Given the description of an element on the screen output the (x, y) to click on. 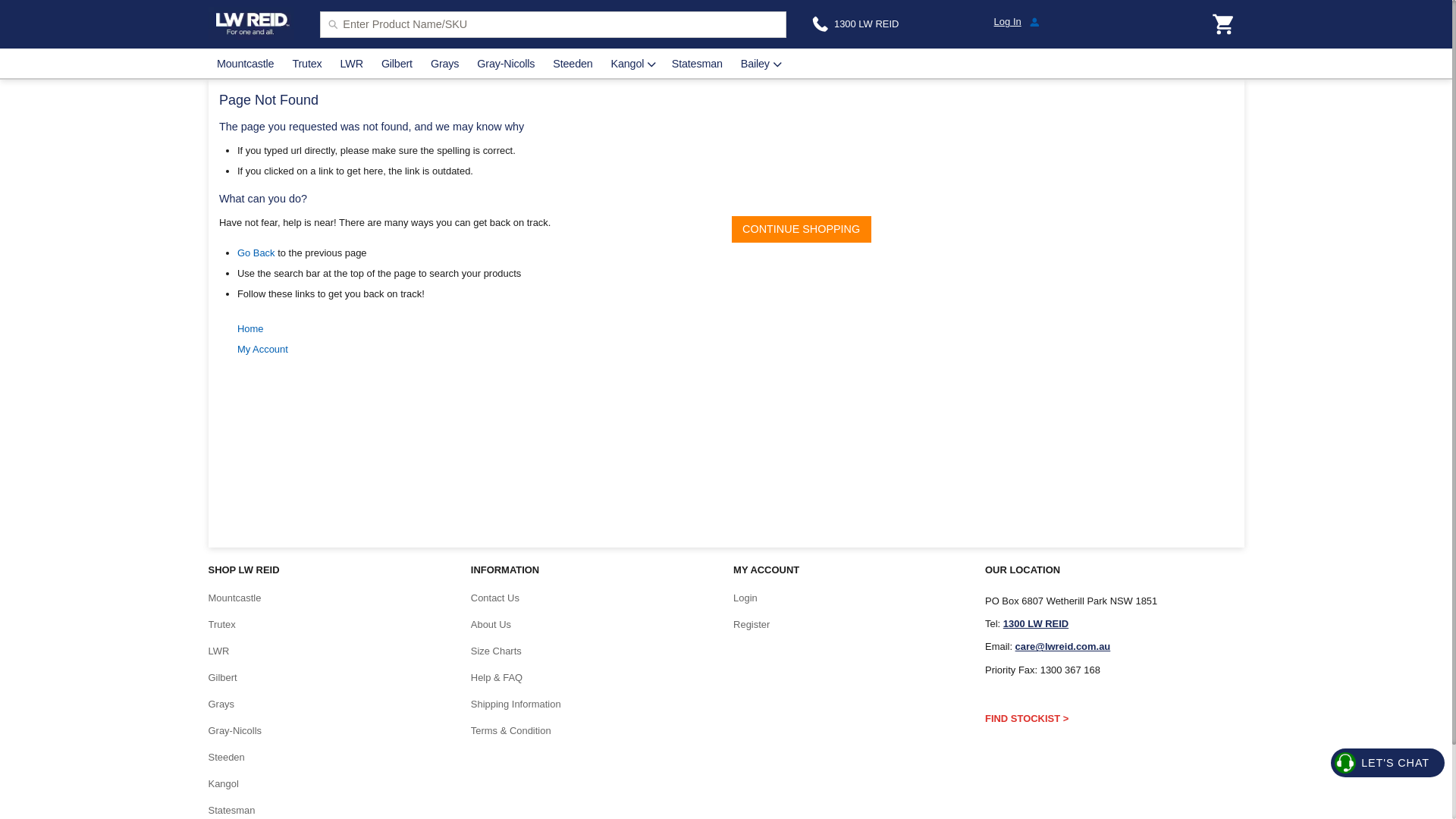
Size Charts Element type: text (495, 650)
Grays Element type: text (444, 63)
Call Us
1300 LW REID Element type: text (855, 23)
care@lwreid.com.au Element type: text (1062, 646)
Gilbert Element type: text (396, 63)
FIND STOCKIST > Element type: text (1026, 718)
About Us Element type: text (490, 624)
LWR Element type: text (218, 650)
Register Element type: text (751, 624)
Shipping Information Element type: text (515, 703)
CONTINUE SHOPPING Element type: text (801, 229)
Kangol Element type: text (222, 783)
Mountcastle Element type: text (233, 597)
Mountcastle Element type: text (244, 63)
Steeden Element type: text (225, 756)
Help & FAQ Element type: text (496, 677)
Trutex Element type: text (221, 624)
Login Element type: text (745, 597)
Contact Us Element type: text (494, 597)
Statesman Element type: text (696, 63)
Empty Cart Element type: hover (1223, 24)
Steeden Element type: text (573, 63)
LWR Element type: text (351, 63)
Bailey
Open Menu Item Element type: text (759, 63)
Statesman Element type: text (230, 809)
Grays Element type: text (220, 703)
Home Element type: text (250, 328)
1300 LW REID Element type: text (1035, 623)
Terms & Condition Element type: text (510, 730)
My Account Element type: text (262, 348)
Log In Element type: text (1088, 21)
Trutex Element type: text (307, 63)
Gilbert Element type: text (221, 677)
Kangol
Open Menu Item Element type: text (632, 63)
Gray-Nicolls Element type: text (234, 730)
Gray-Nicolls Element type: text (506, 63)
Go Back Element type: text (256, 252)
